Given the description of an element on the screen output the (x, y) to click on. 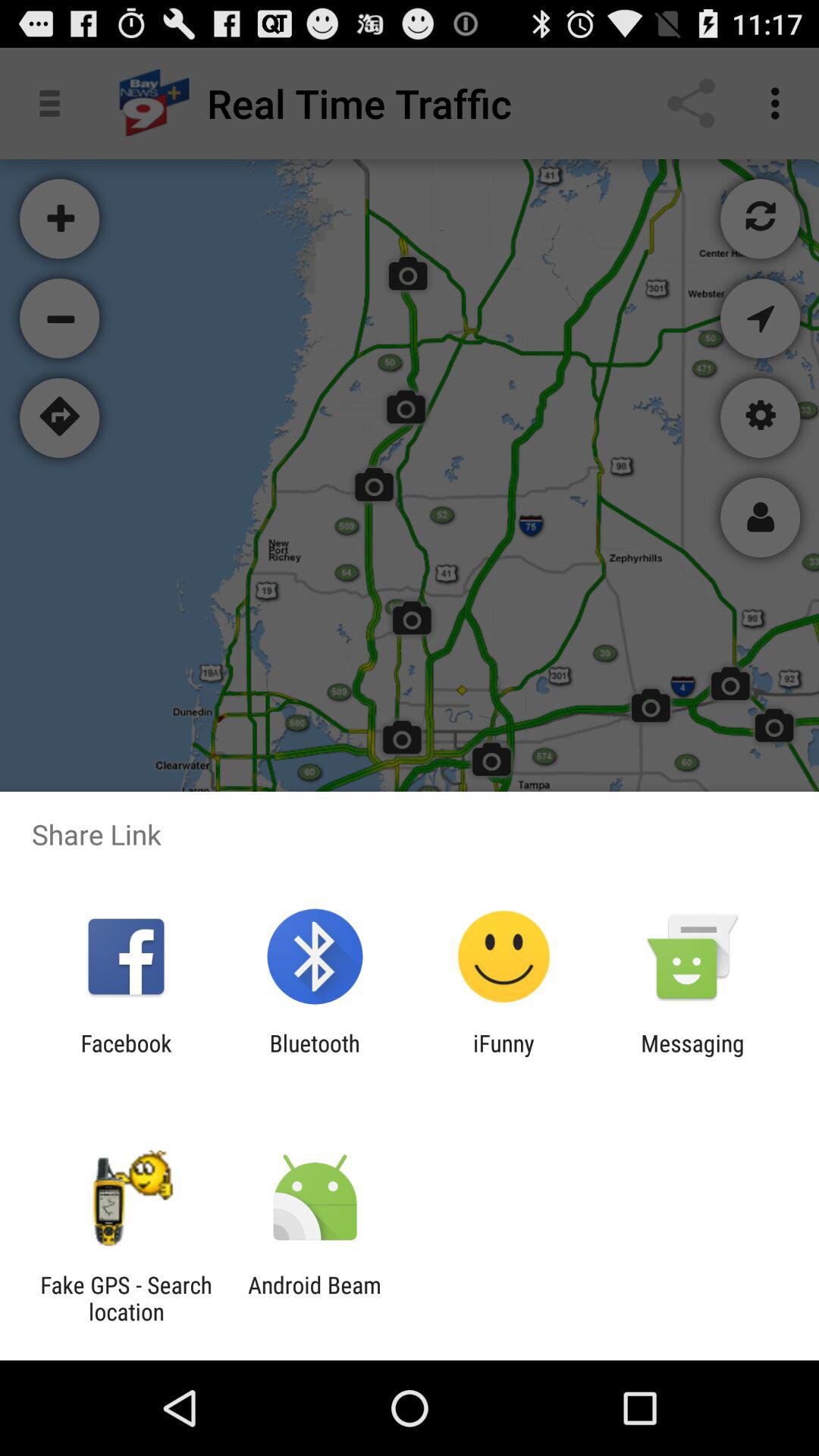
turn off the android beam (314, 1298)
